Given the description of an element on the screen output the (x, y) to click on. 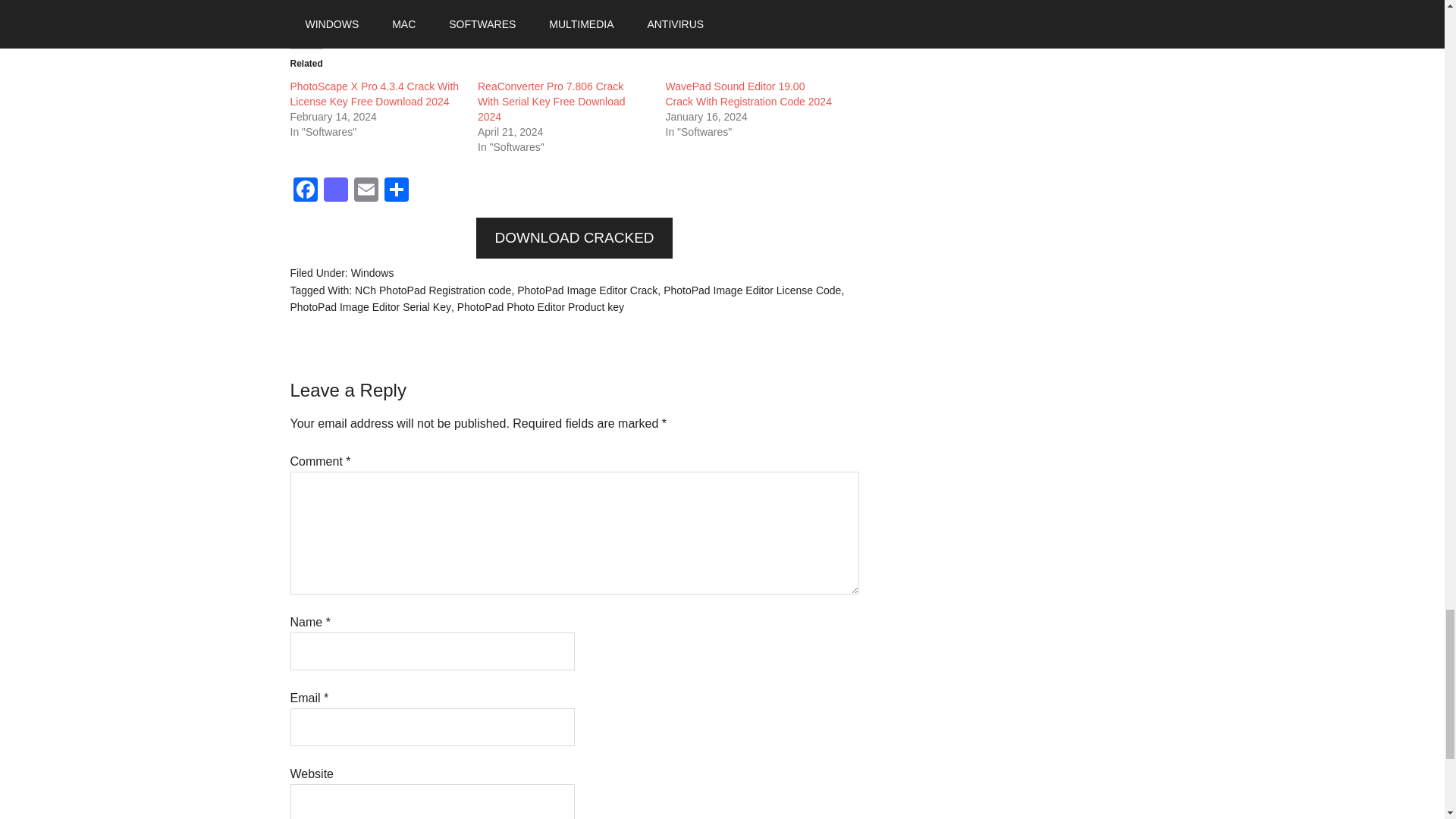
DOWNLOAD CRACKED (573, 237)
NCh PhotoPad Registration code (433, 290)
PhotoPad Image Editor Crack (587, 290)
Download Link (574, 13)
Facebook (304, 191)
WavePad Sound Editor 19.00 Crack With Registration Code 2024 (748, 93)
Windows (372, 272)
Email (365, 191)
